Given the description of an element on the screen output the (x, y) to click on. 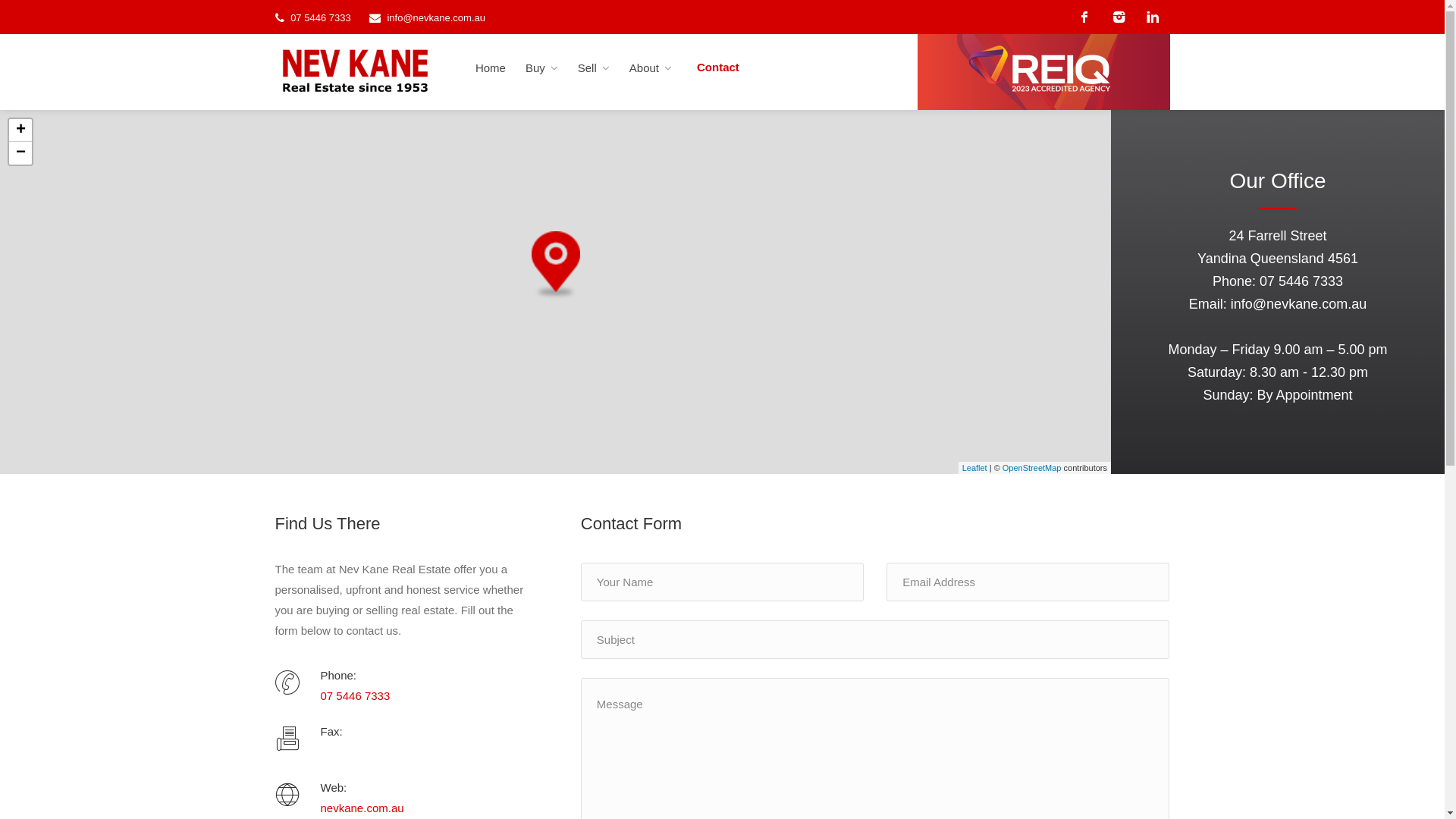
OpenStreetMap Element type: text (1031, 466)
nevkane.com.au Element type: text (361, 807)
Home Element type: text (490, 67)
+ Element type: text (20, 130)
info@nevkane.com.au Element type: text (1298, 303)
info@nevkane.com.au Element type: text (435, 17)
Contact Element type: text (717, 67)
Buy Element type: text (541, 67)
Leaflet Element type: text (974, 466)
About Element type: text (650, 67)
07 5446 7333 Element type: text (354, 695)
07 5446 7333 Element type: text (1301, 280)
Sell Element type: text (593, 67)
07 5446 7333 Element type: text (320, 17)
